Given the description of an element on the screen output the (x, y) to click on. 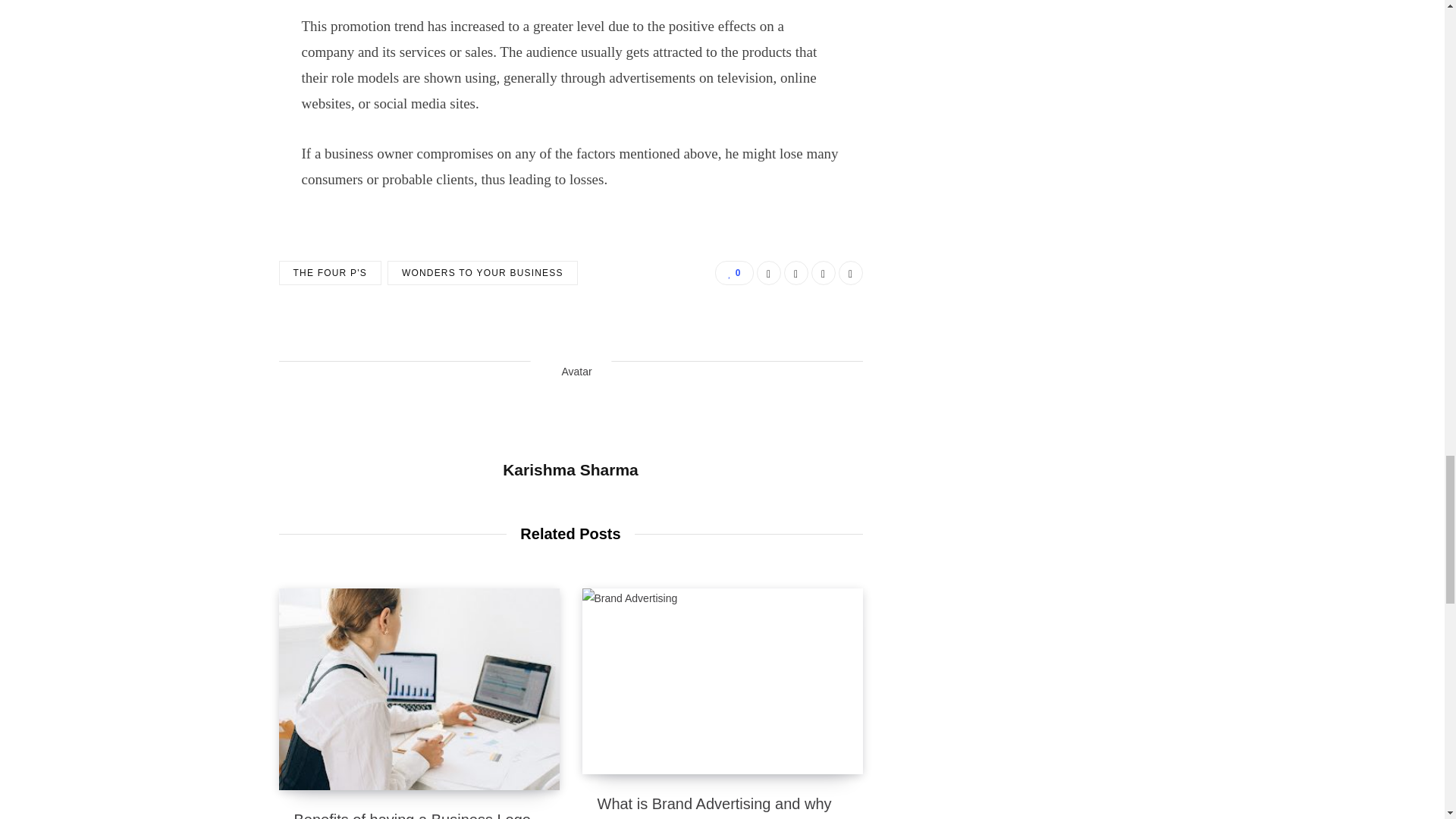
WONDERS TO YOUR BUSINESS (482, 273)
Pinterest (850, 273)
THE FOUR P'S (330, 273)
0 (733, 273)
Karishma Sharma (570, 469)
LinkedIn (822, 273)
Share on Facebook (768, 273)
Share on Twitter (796, 273)
